Given the description of an element on the screen output the (x, y) to click on. 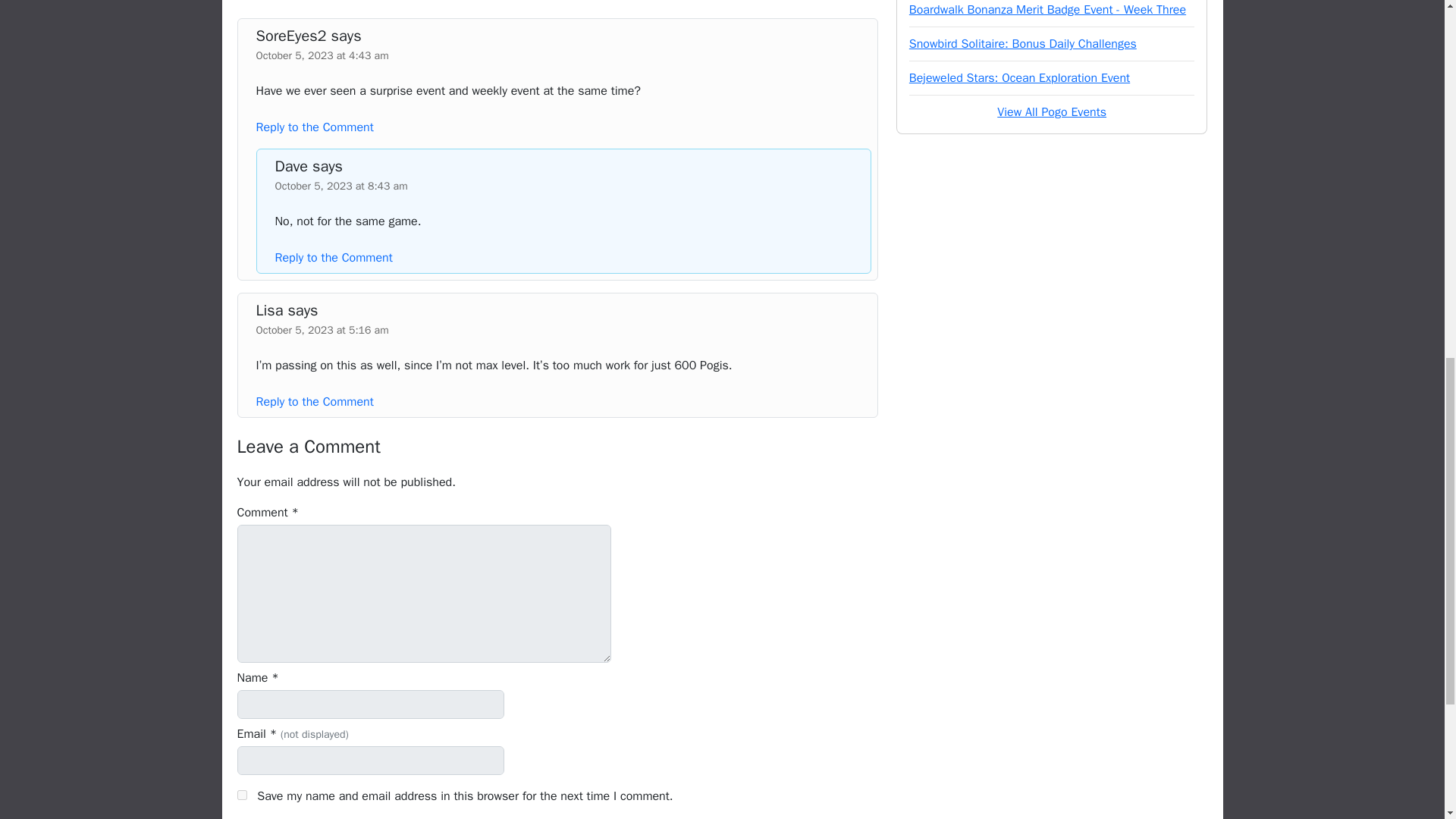
October 5, 2023 at 4:43 am (322, 55)
Reply to the Comment (333, 257)
Reply to the Comment (315, 401)
Reply to the Comment (315, 127)
Name (369, 704)
October 5, 2023 at 8:43 am (341, 185)
October 5, 2023 at 5:16 am (322, 329)
Boardwalk Bonanza Merit Badge Event - Week Three (1047, 9)
Email (369, 760)
yes (240, 795)
